Given the description of an element on the screen output the (x, y) to click on. 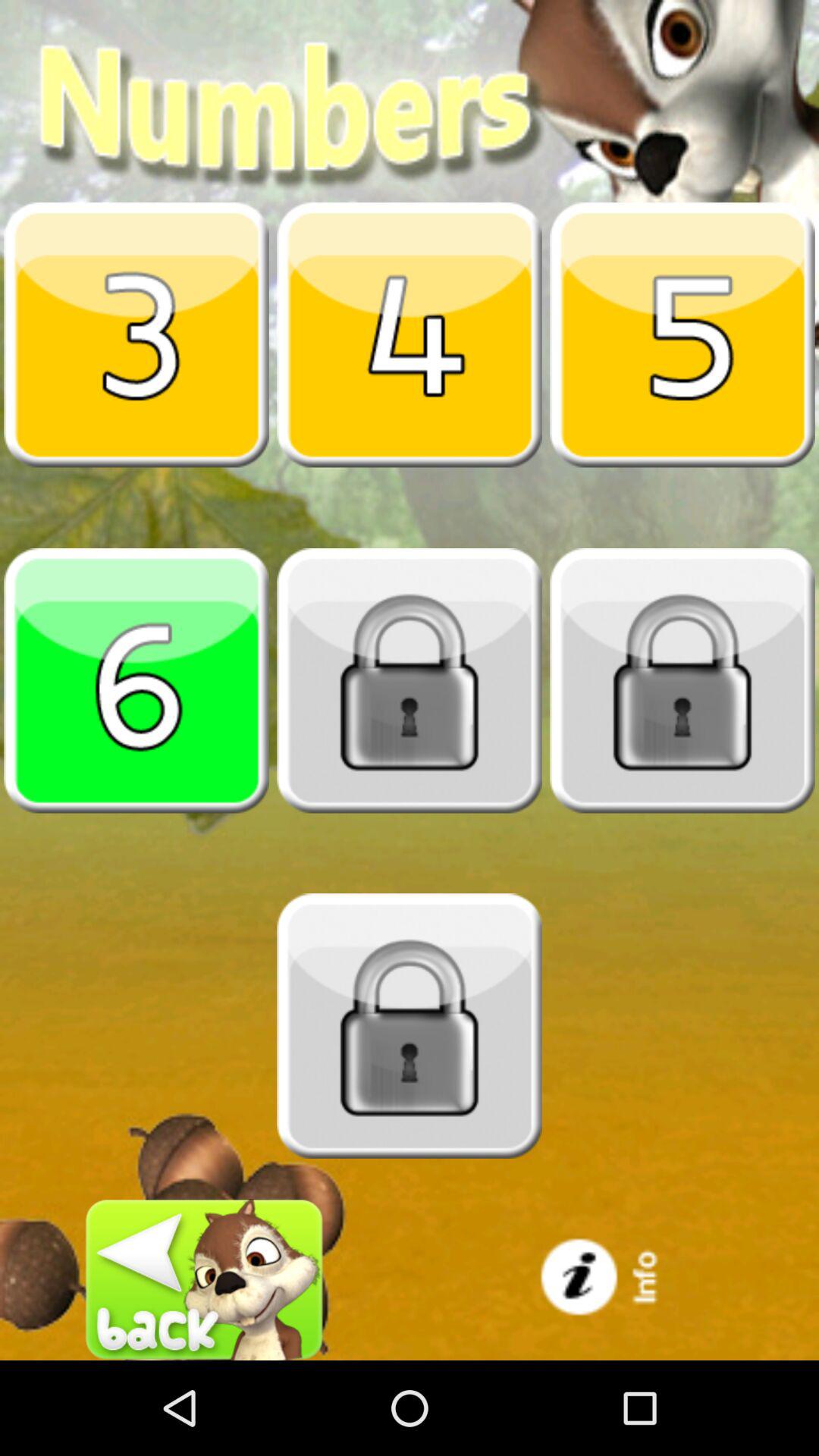
select level 3 (136, 334)
